Given the description of an element on the screen output the (x, y) to click on. 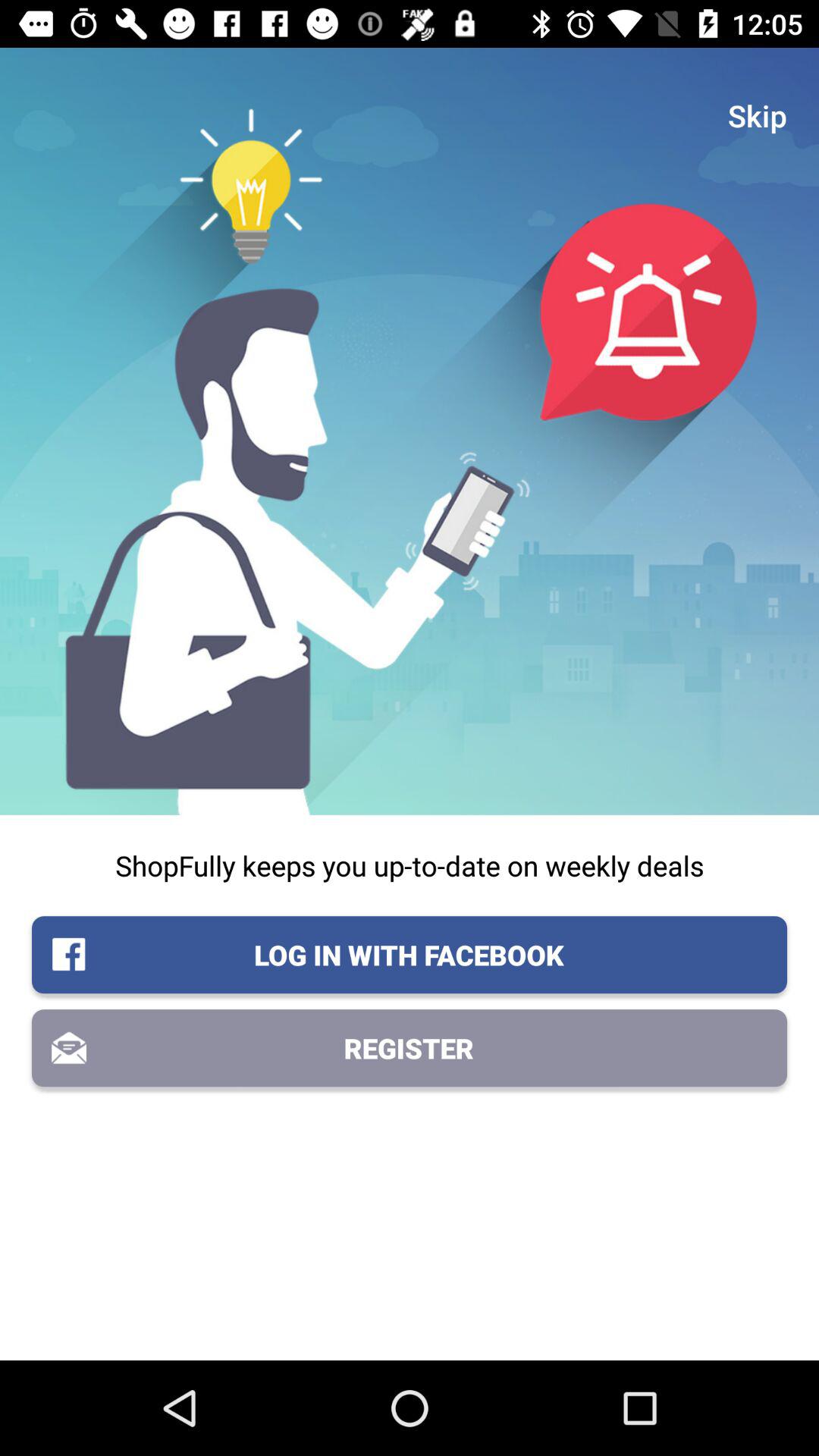
flip until shopfully keeps you icon (409, 865)
